Given the description of an element on the screen output the (x, y) to click on. 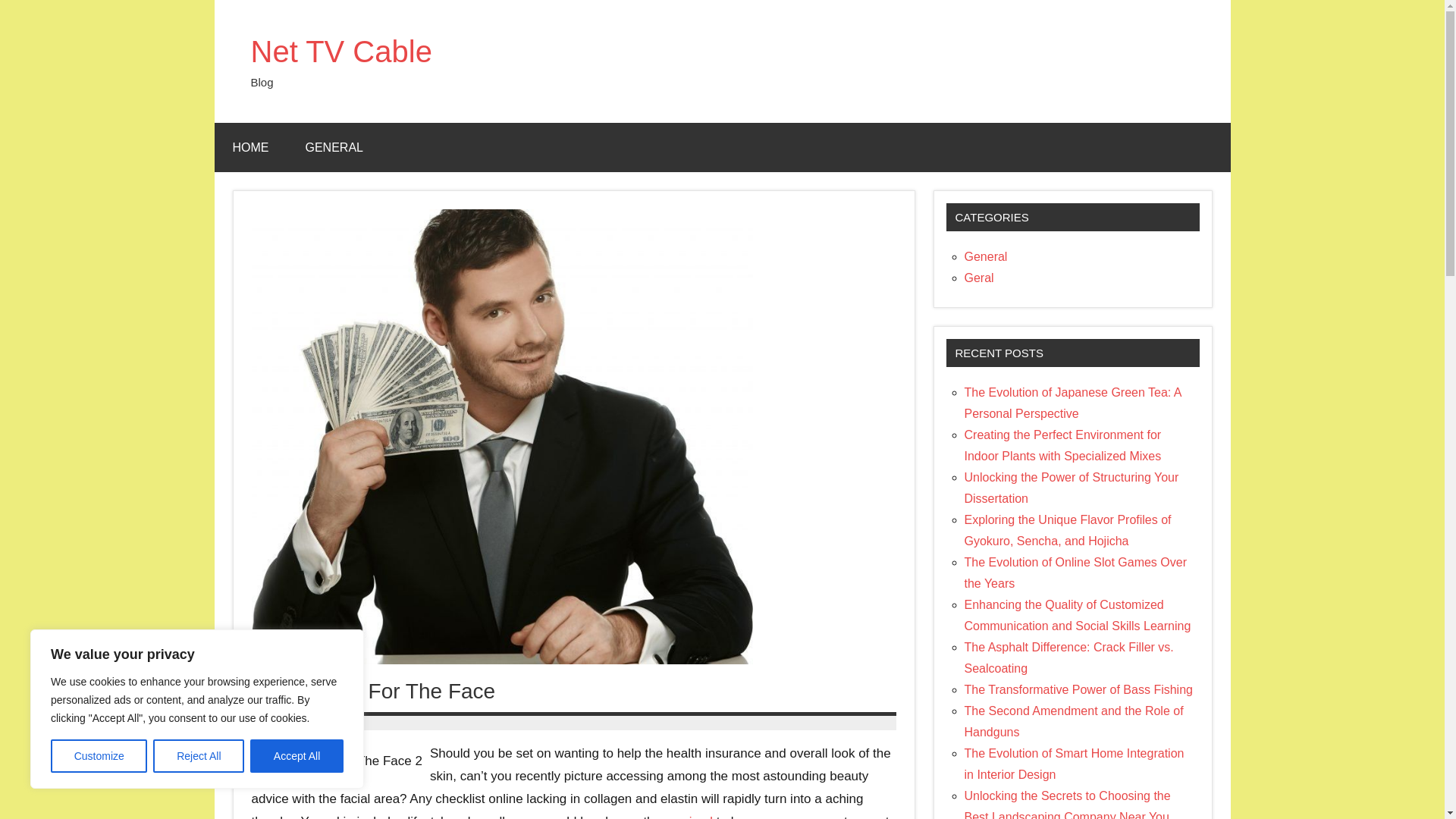
surprised (686, 816)
Unlocking the Power of Structuring Your Dissertation (1071, 487)
Customize (98, 756)
Net TV Cable (340, 51)
The Evolution of Online Slot Games Over the Years (1074, 572)
GENERAL (333, 146)
The Asphalt Difference: Crack Filler vs. Sealcoating (1068, 657)
Accept All (296, 756)
HOME (250, 146)
Reject All (198, 756)
Geral (978, 277)
The Evolution of Japanese Green Tea: A Personal Perspective (1071, 402)
General (985, 256)
